Given the description of an element on the screen output the (x, y) to click on. 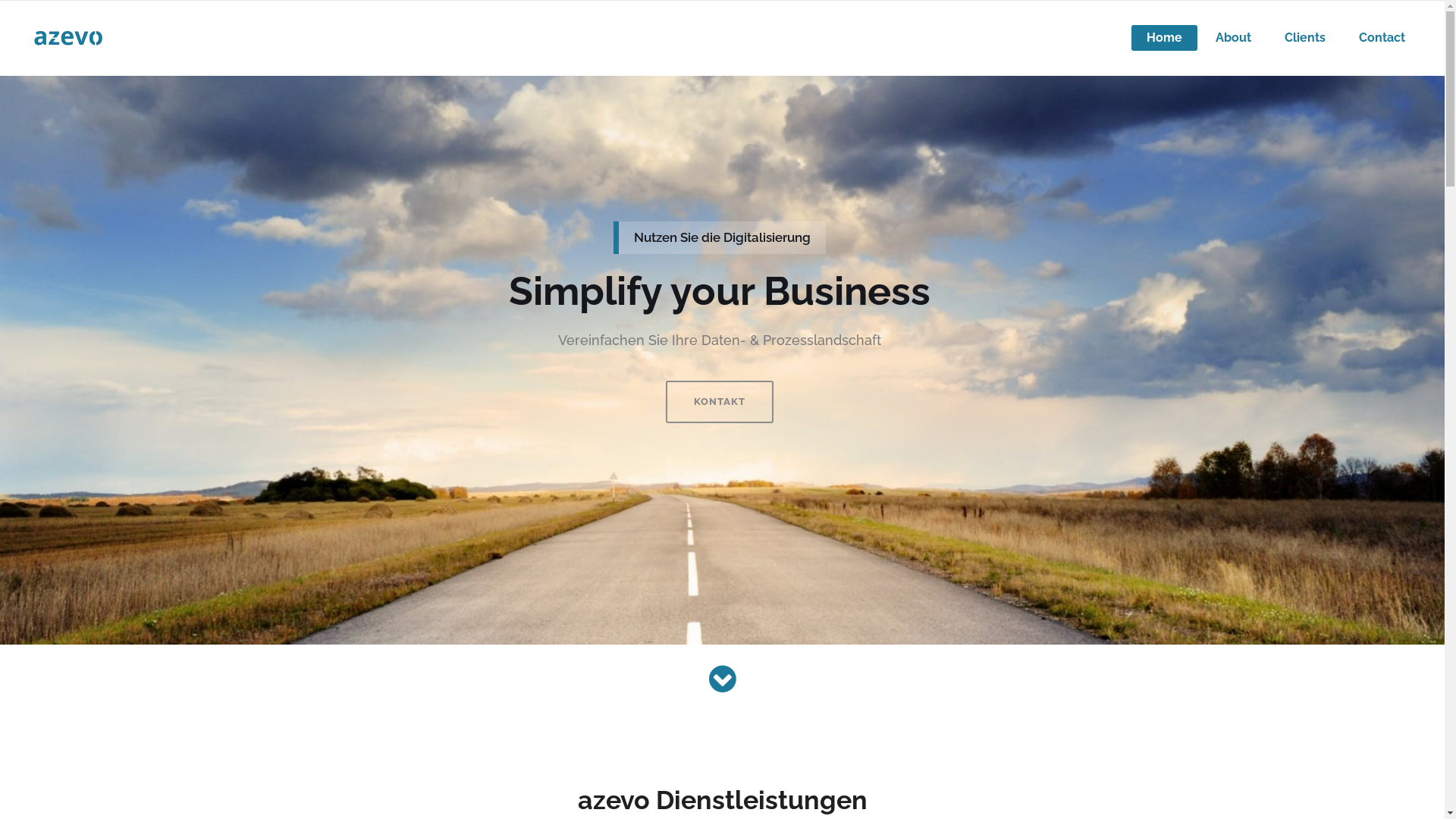
Contact Element type: text (1381, 37)
Home Element type: text (1164, 37)
KONTAKT Element type: text (719, 401)
About Element type: text (1233, 37)
Clients Element type: text (1304, 37)
